Given the description of an element on the screen output the (x, y) to click on. 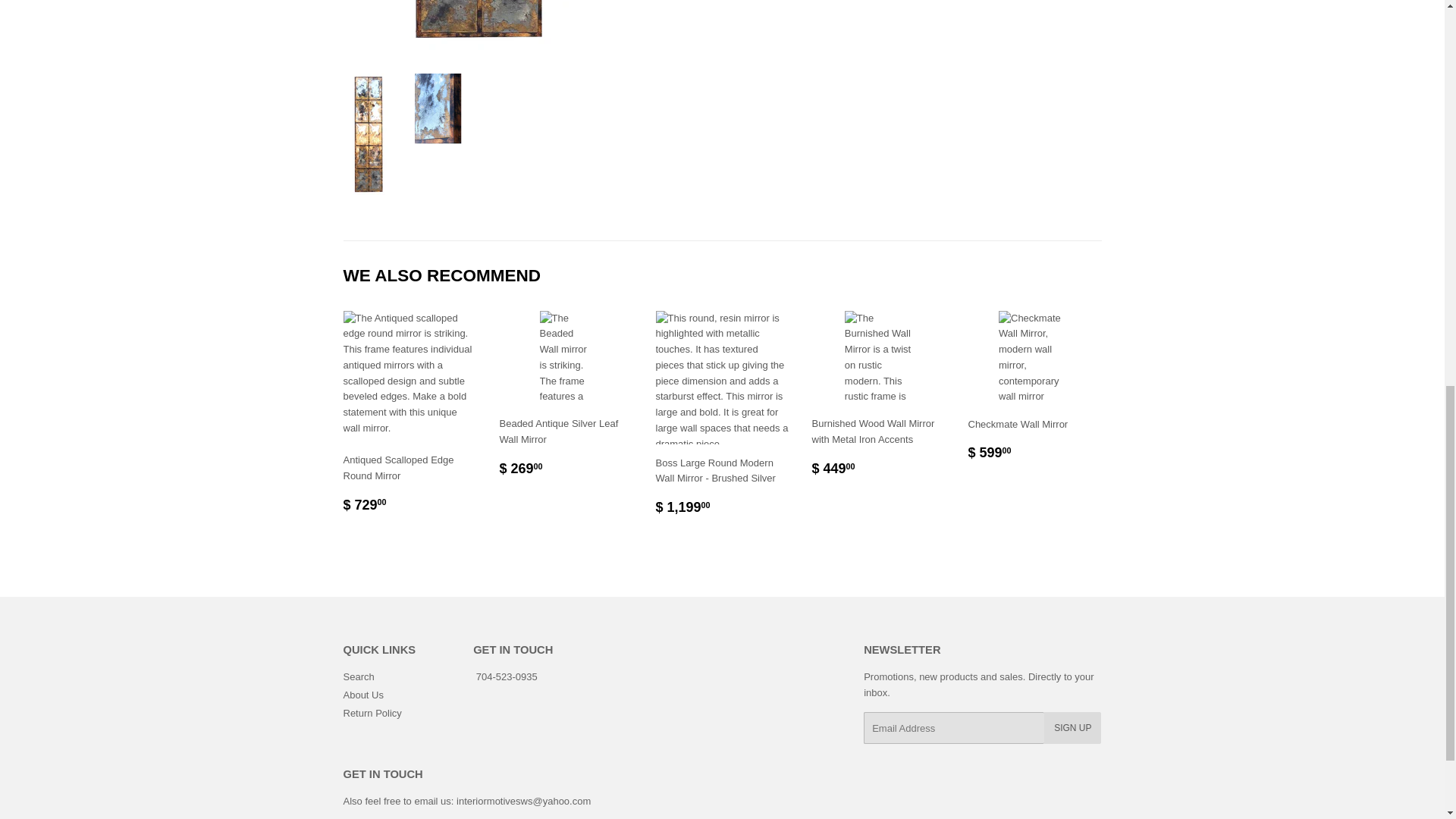
SIGN UP (1071, 727)
About Us (362, 695)
Return Policy (371, 713)
Search (358, 676)
